Given the description of an element on the screen output the (x, y) to click on. 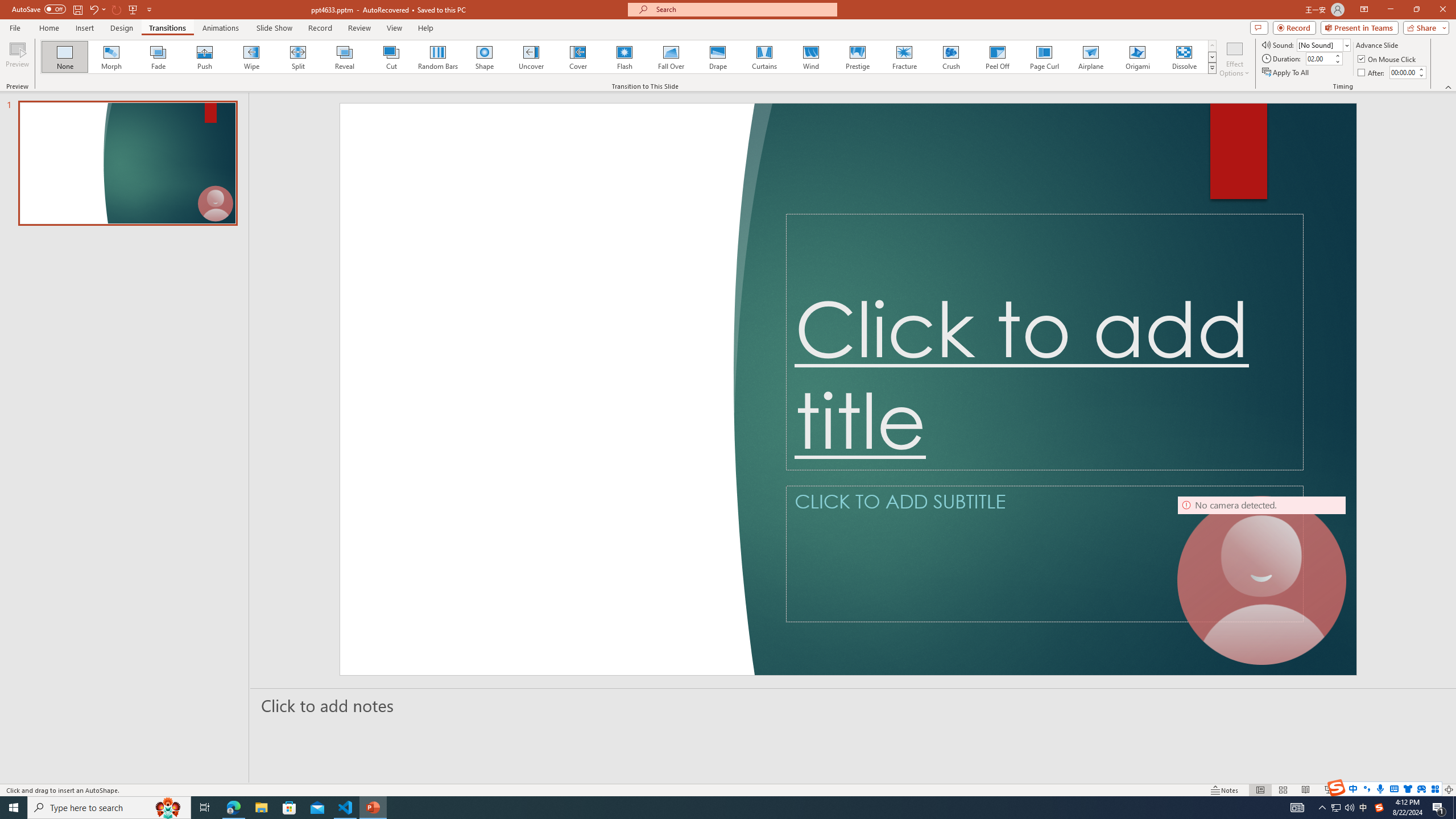
On Mouse Click (1387, 58)
Dissolve (1183, 56)
